Given the description of an element on the screen output the (x, y) to click on. 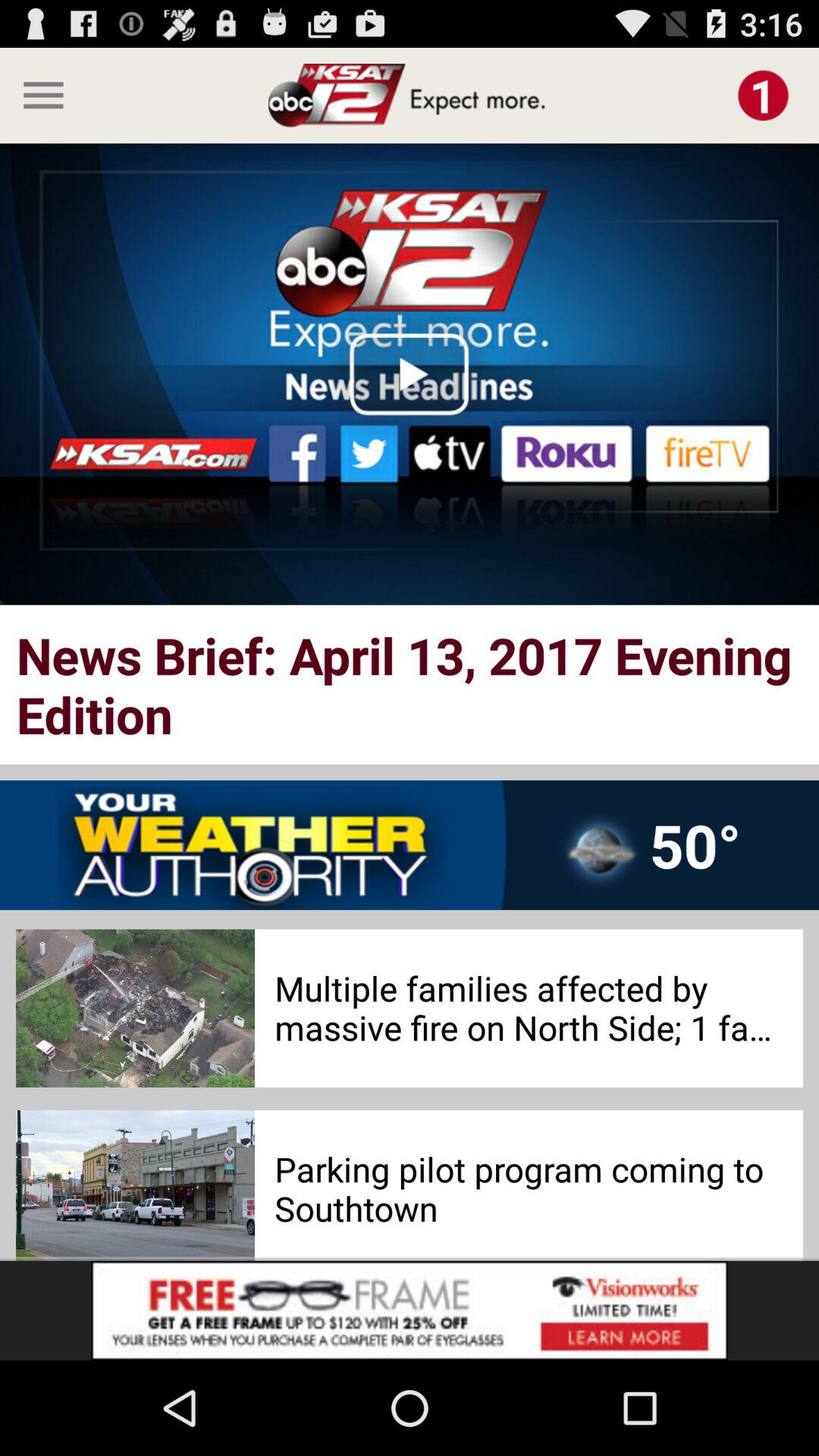
view the advertisement (409, 1310)
